Given the description of an element on the screen output the (x, y) to click on. 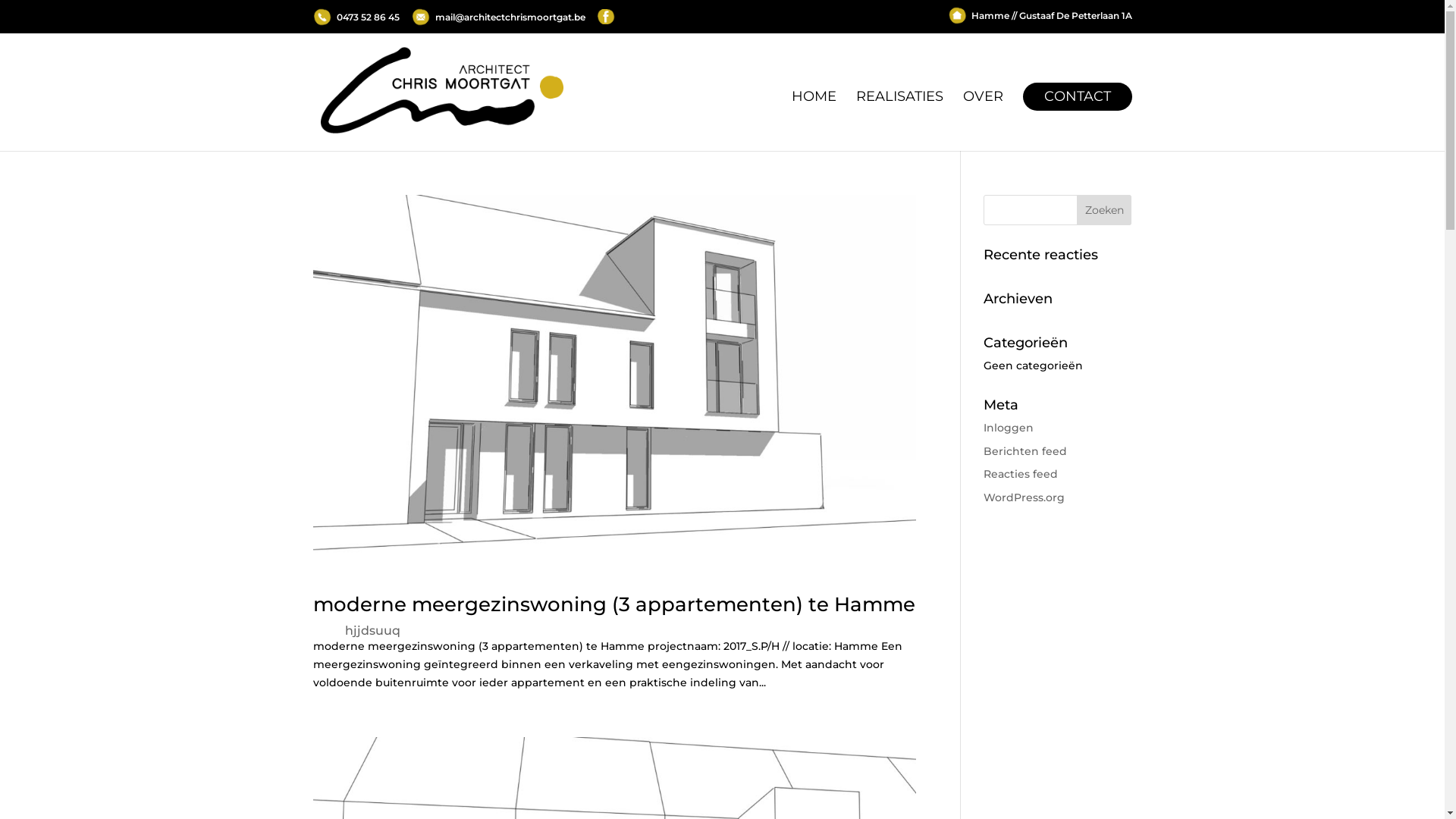
CONTACT Element type: text (1076, 120)
mail@architectchrismoortgat.be Element type: text (497, 16)
REALISATIES Element type: text (898, 120)
Inloggen Element type: text (1008, 427)
Berichten feed Element type: text (1024, 451)
WordPress.org Element type: text (1023, 497)
hjjdsuuq Element type: text (371, 630)
Hamme // Gustaaf De Petterlaan 1A Element type: text (1039, 18)
Reacties feed Element type: text (1020, 473)
HOME Element type: text (813, 120)
Zoeken Element type: text (1104, 209)
OVER Element type: text (983, 120)
moderne meergezinswoning (3 appartementen) te Hamme Element type: text (613, 604)
